Given the description of an element on the screen output the (x, y) to click on. 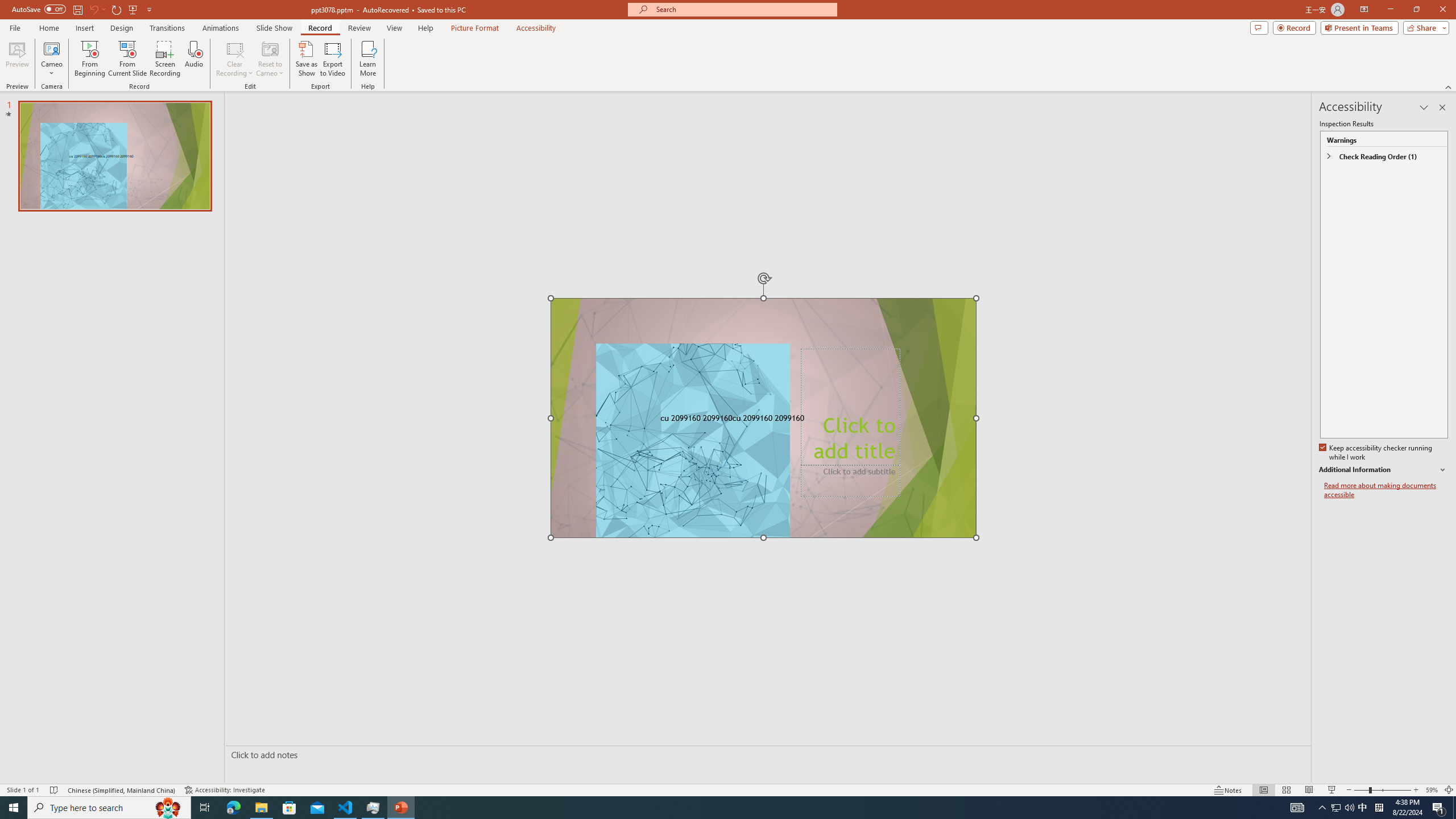
From Beginning... (89, 58)
Read more about making documents accessible (1385, 489)
Additional Information (1383, 469)
